Given the description of an element on the screen output the (x, y) to click on. 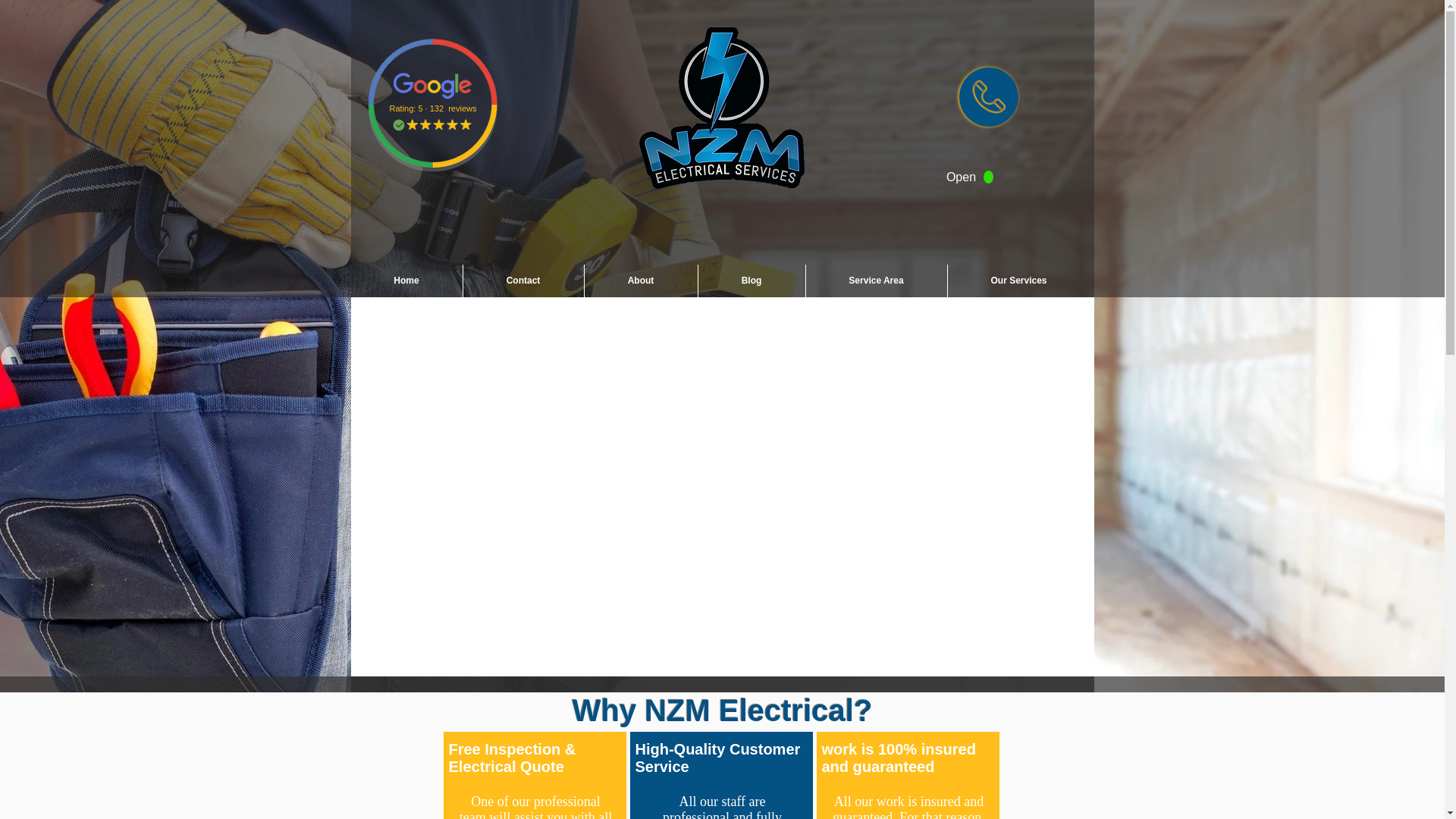
Home Element type: text (405, 280)
Blog Element type: text (750, 280)
Contact Element type: text (522, 280)
About Element type: text (639, 280)
